Given the description of an element on the screen output the (x, y) to click on. 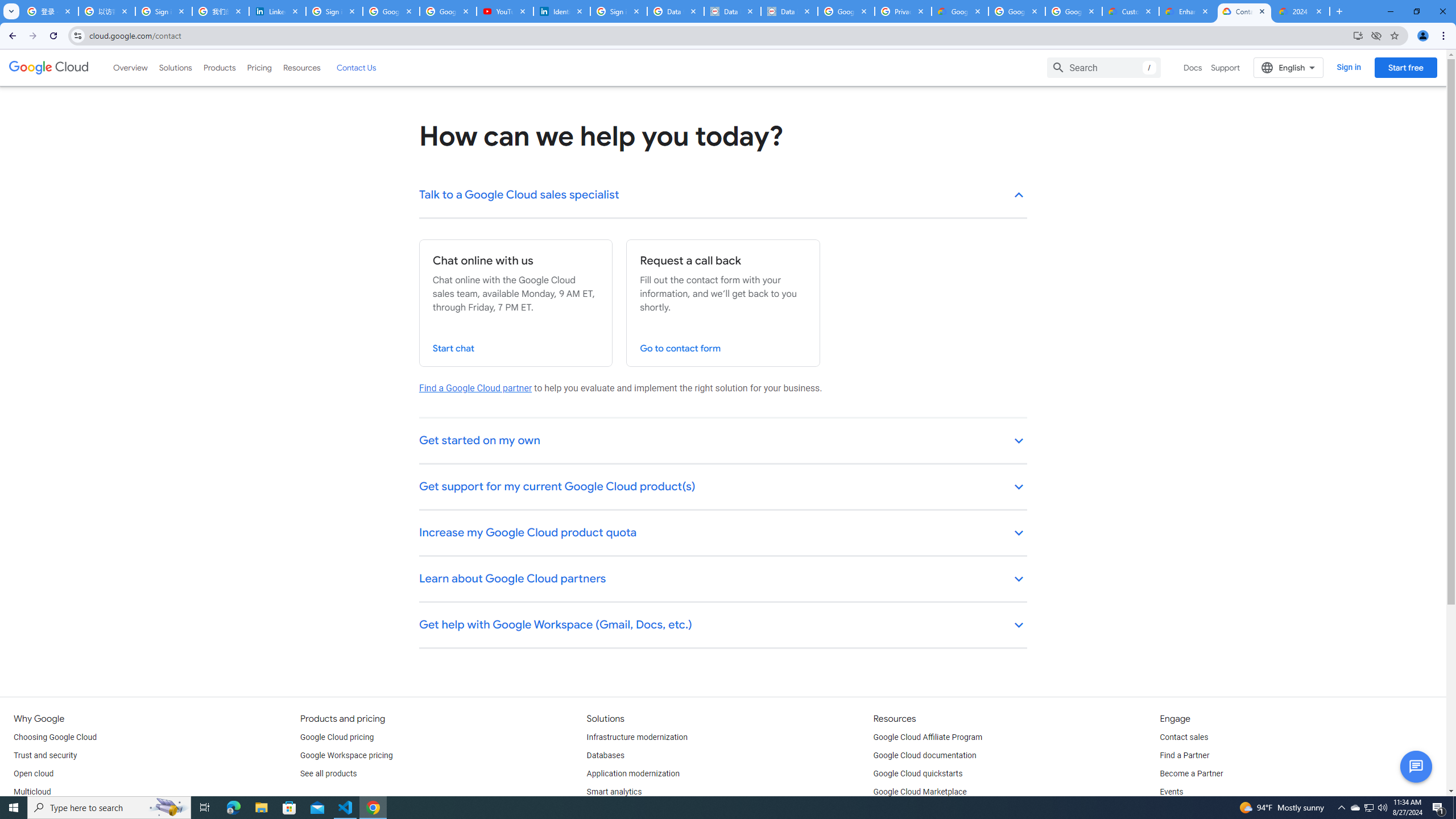
Google Workspace pricing (346, 755)
Events (1170, 791)
Contact sales (1183, 737)
See all products (327, 773)
Google Cloud Affiliate Program (927, 737)
Google Workspace - Specific Terms (1015, 11)
Solutions (175, 67)
Choosing Google Cloud (55, 737)
Sign in - Google Accounts (618, 11)
